Given the description of an element on the screen output the (x, y) to click on. 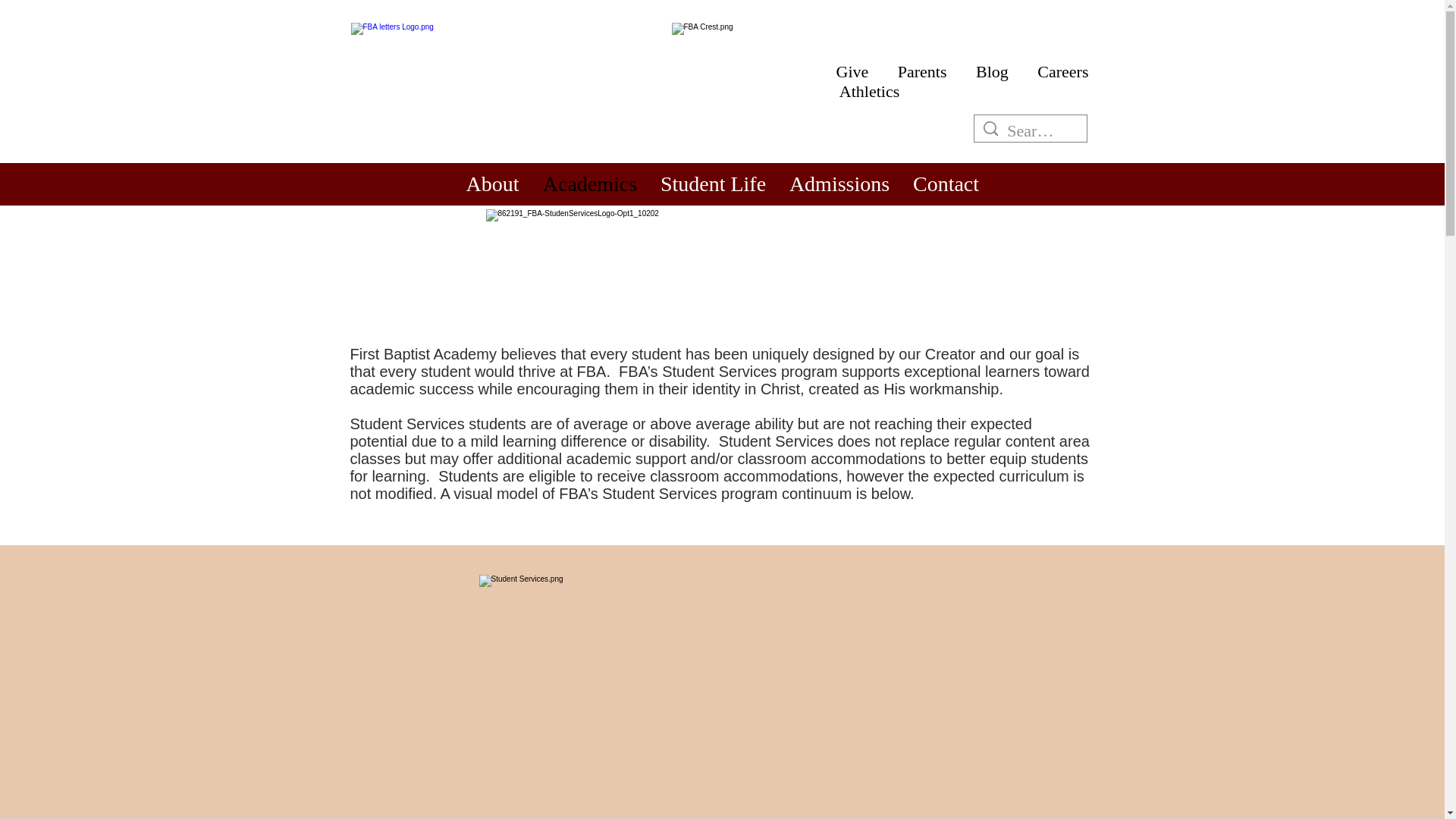
Student Life (713, 184)
Athletics (869, 90)
Academics (589, 184)
Careers (1061, 71)
Blog (992, 71)
Parents (919, 71)
Contact (945, 184)
Admissions (839, 184)
Give  (853, 71)
APPLY (501, 277)
NOW (501, 296)
About (491, 184)
